Given the description of an element on the screen output the (x, y) to click on. 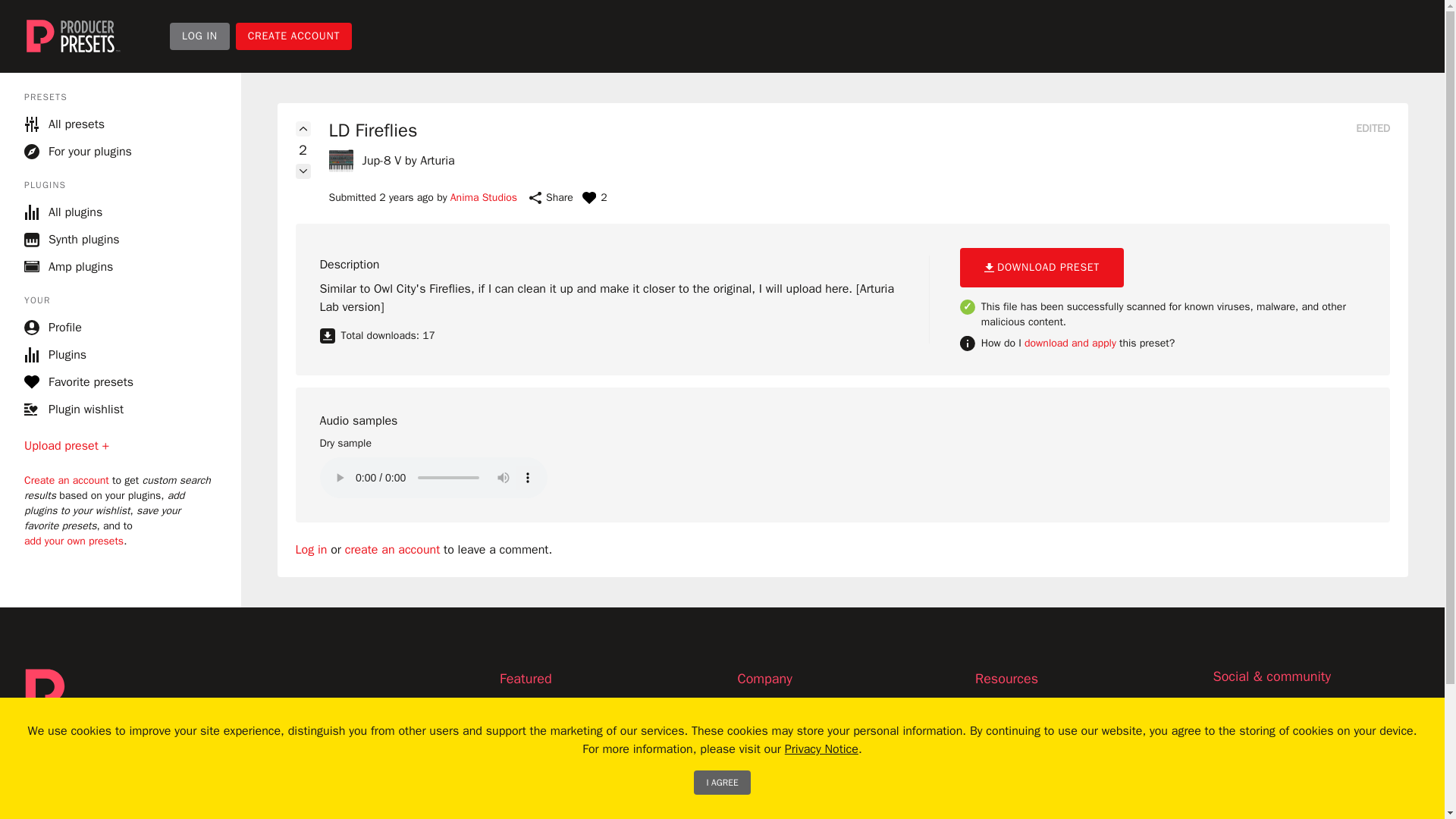
Producers (526, 737)
About (751, 737)
VOTE UP (303, 128)
add your own presets (73, 540)
LOG IN (200, 35)
download and apply (1070, 343)
VOTE DOWN (303, 171)
Profile (52, 327)
Instruments (531, 792)
Producer Presets (72, 36)
Amp plugins (120, 266)
create an account (393, 549)
All presets (120, 124)
Blog (748, 710)
Log in (311, 549)
